Given the description of an element on the screen output the (x, y) to click on. 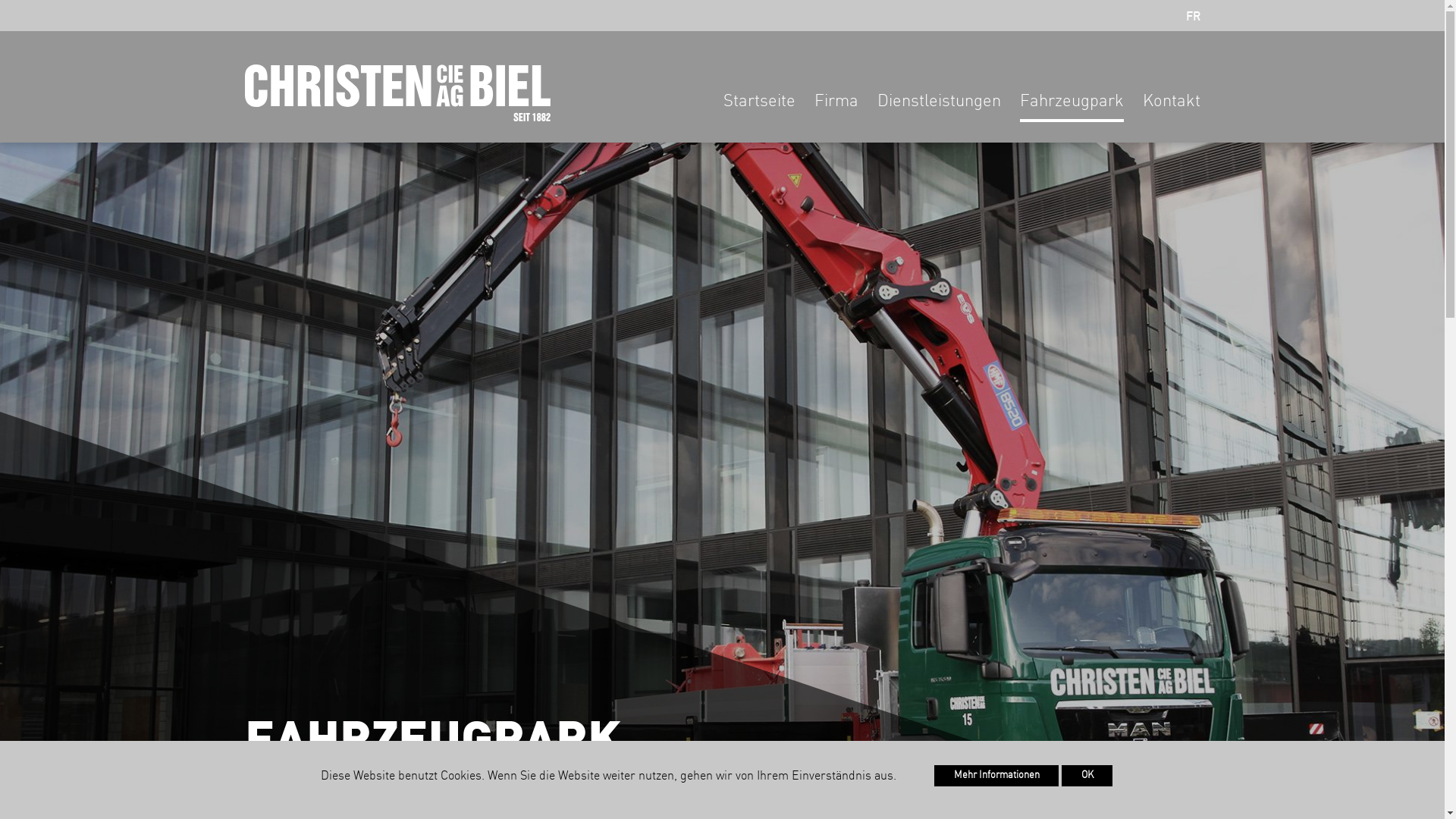
Firma Element type: text (836, 107)
Mehr Informationen Element type: text (996, 775)
Kontakt Element type: text (1170, 107)
Fahrzeugpark Element type: text (1071, 107)
OK Element type: text (1086, 775)
Startseite Element type: text (759, 107)
FR Element type: text (1193, 16)
Dienstleistungen Element type: text (938, 107)
